Given the description of an element on the screen output the (x, y) to click on. 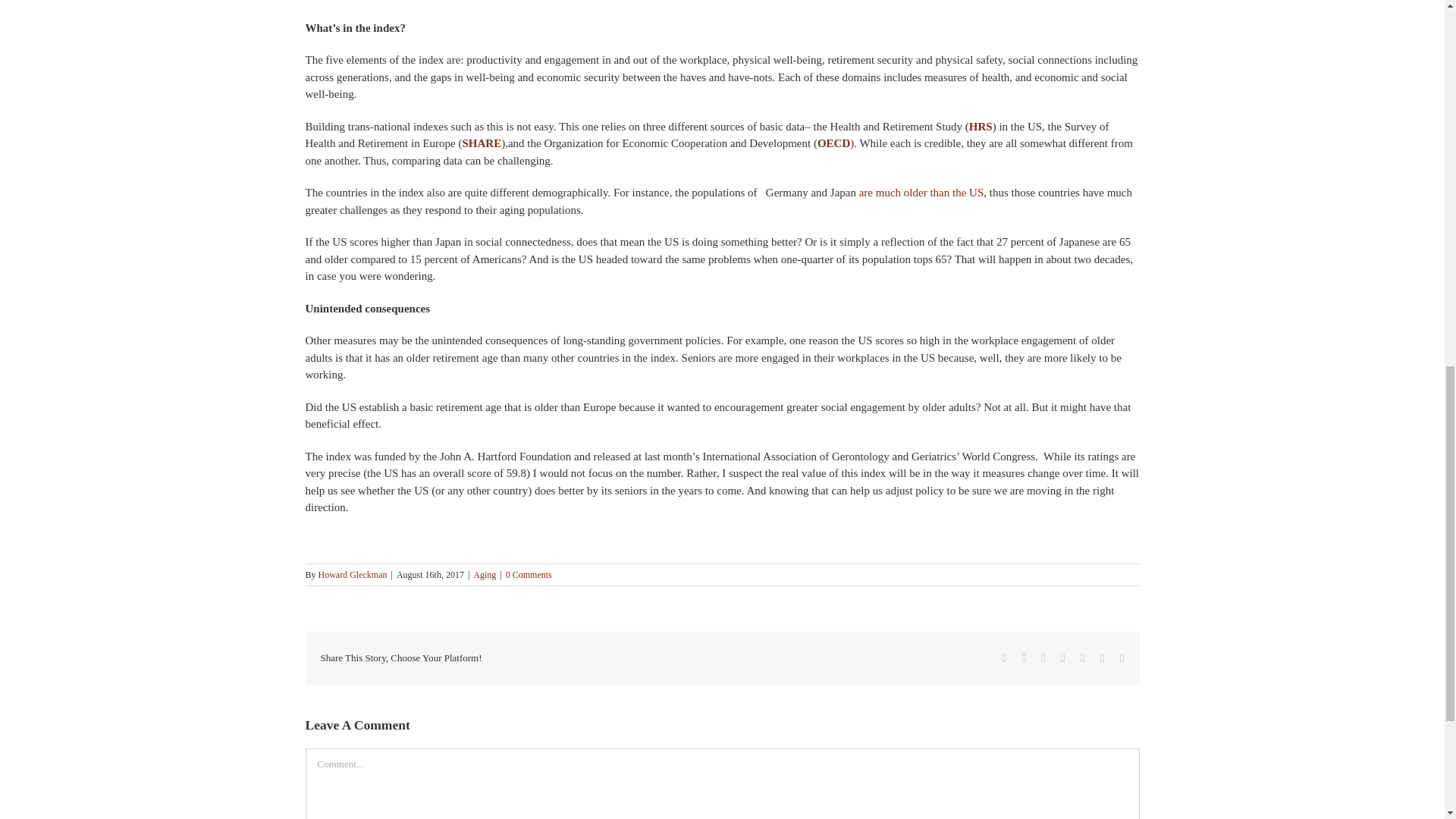
Posts by Howard Gleckman (352, 574)
are much older than the US (921, 192)
HRS (980, 125)
Howard Gleckman (352, 574)
OECD (833, 143)
Aging (484, 574)
SHARE (482, 143)
0 Comments (528, 574)
